Given the description of an element on the screen output the (x, y) to click on. 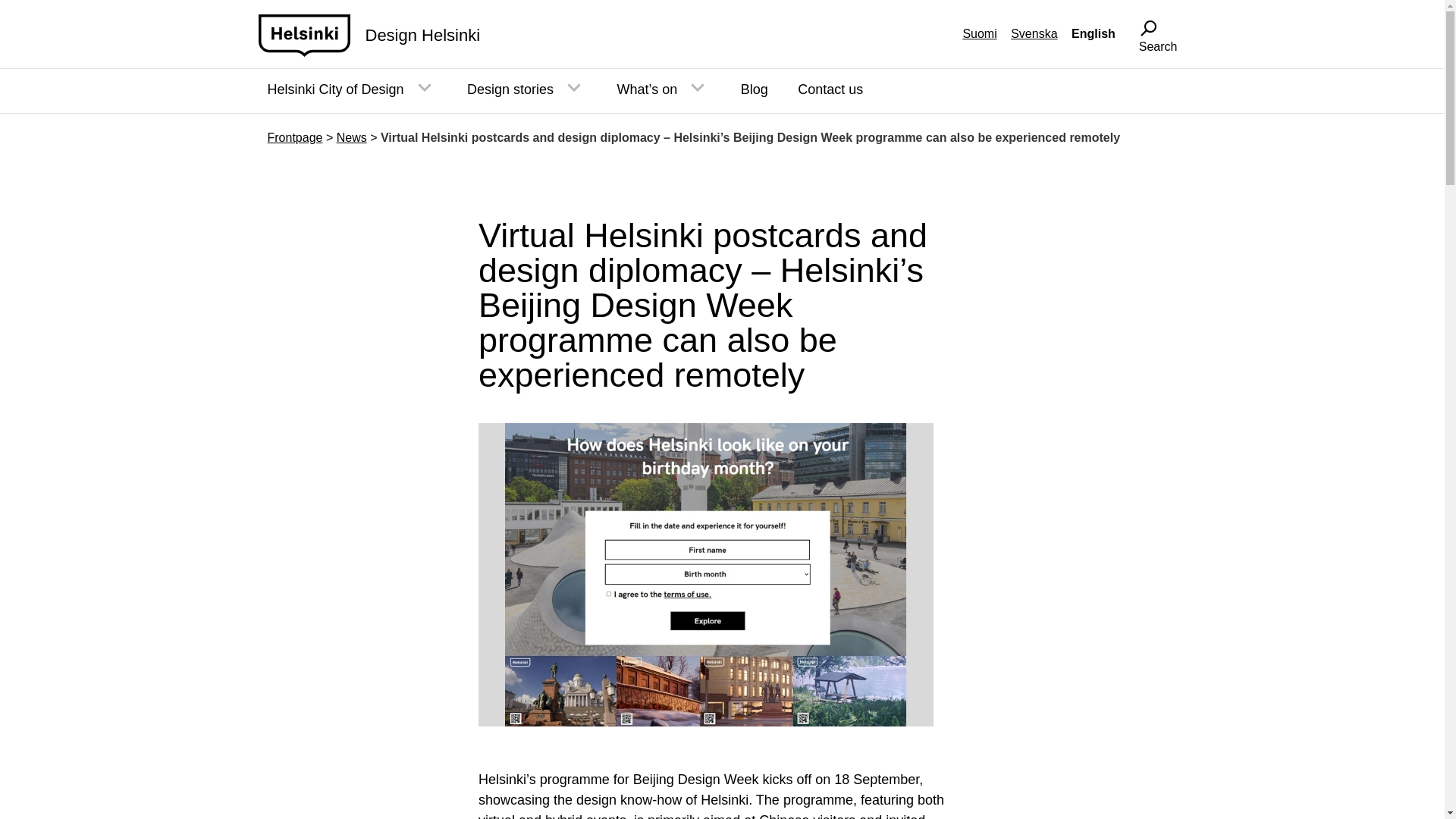
Design stories (510, 89)
English (1093, 33)
Suomi (978, 33)
Svenska (1033, 33)
News (351, 137)
Contact us (830, 89)
Blog (754, 89)
Frontpage (293, 137)
Etusivulle (303, 35)
Helsinki City of Design (334, 89)
